Given the description of an element on the screen output the (x, y) to click on. 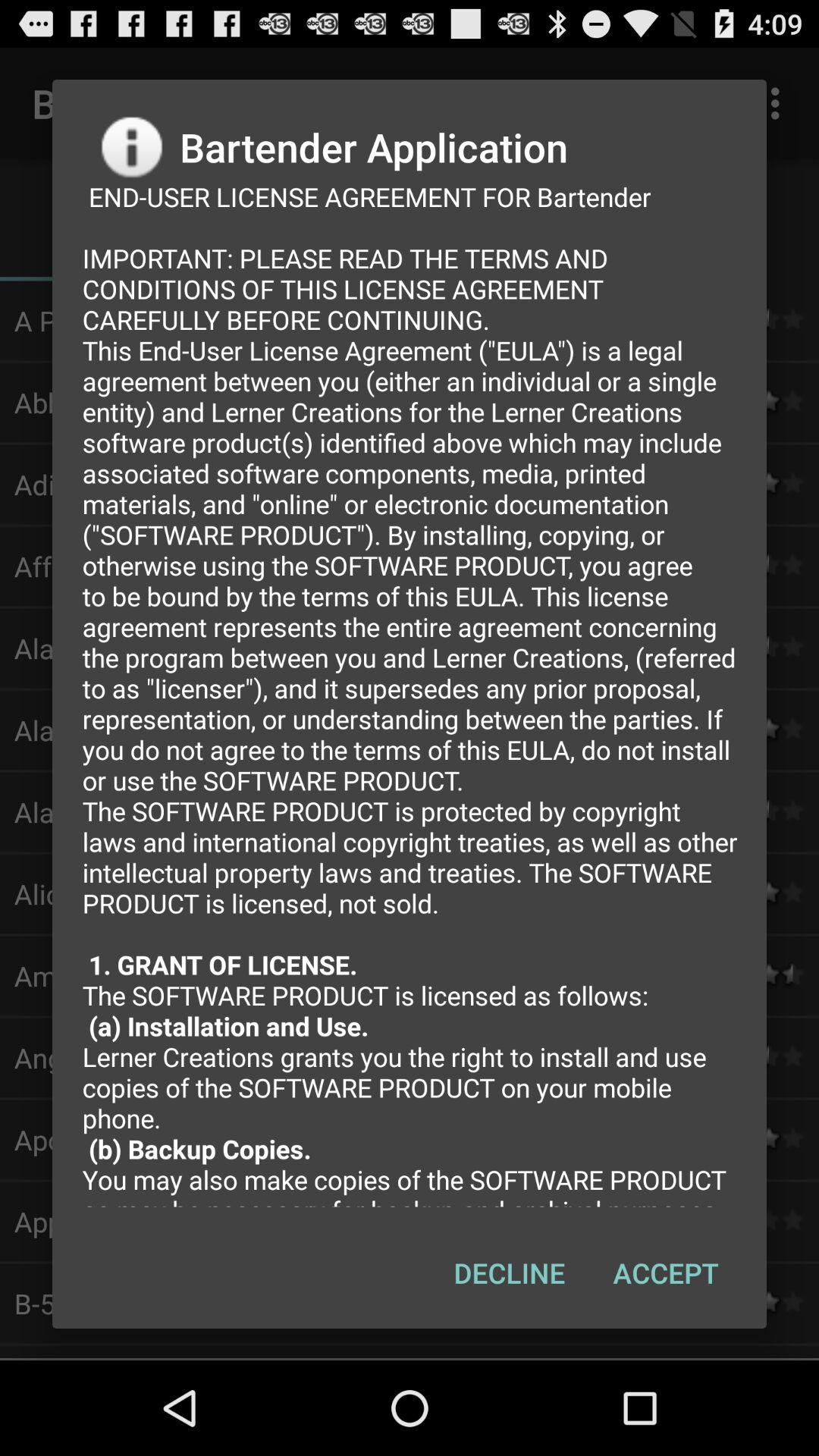
open the icon next to the accept item (509, 1272)
